Given the description of an element on the screen output the (x, y) to click on. 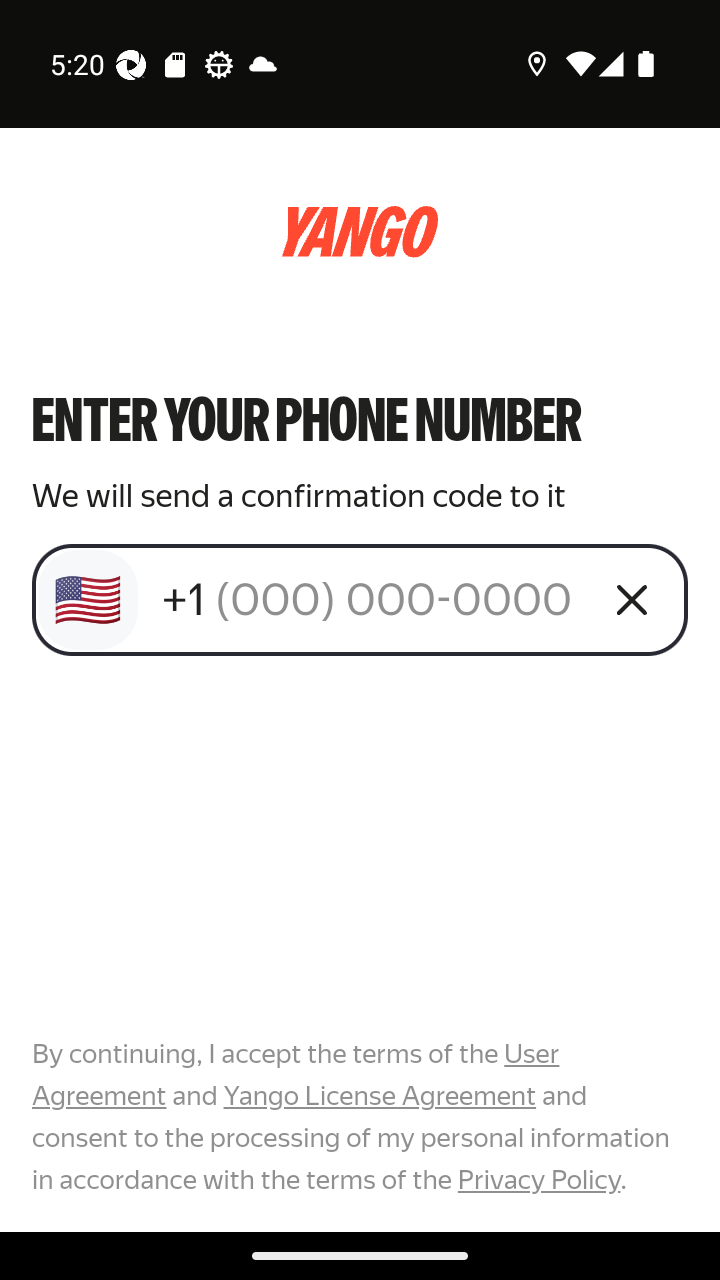
logo (359, 231)
🇺🇸 (88, 600)
+1 (372, 599)
User Agreement (295, 1075)
Yango License Agreement (379, 1096)
Privacy Policy (538, 1179)
